Given the description of an element on the screen output the (x, y) to click on. 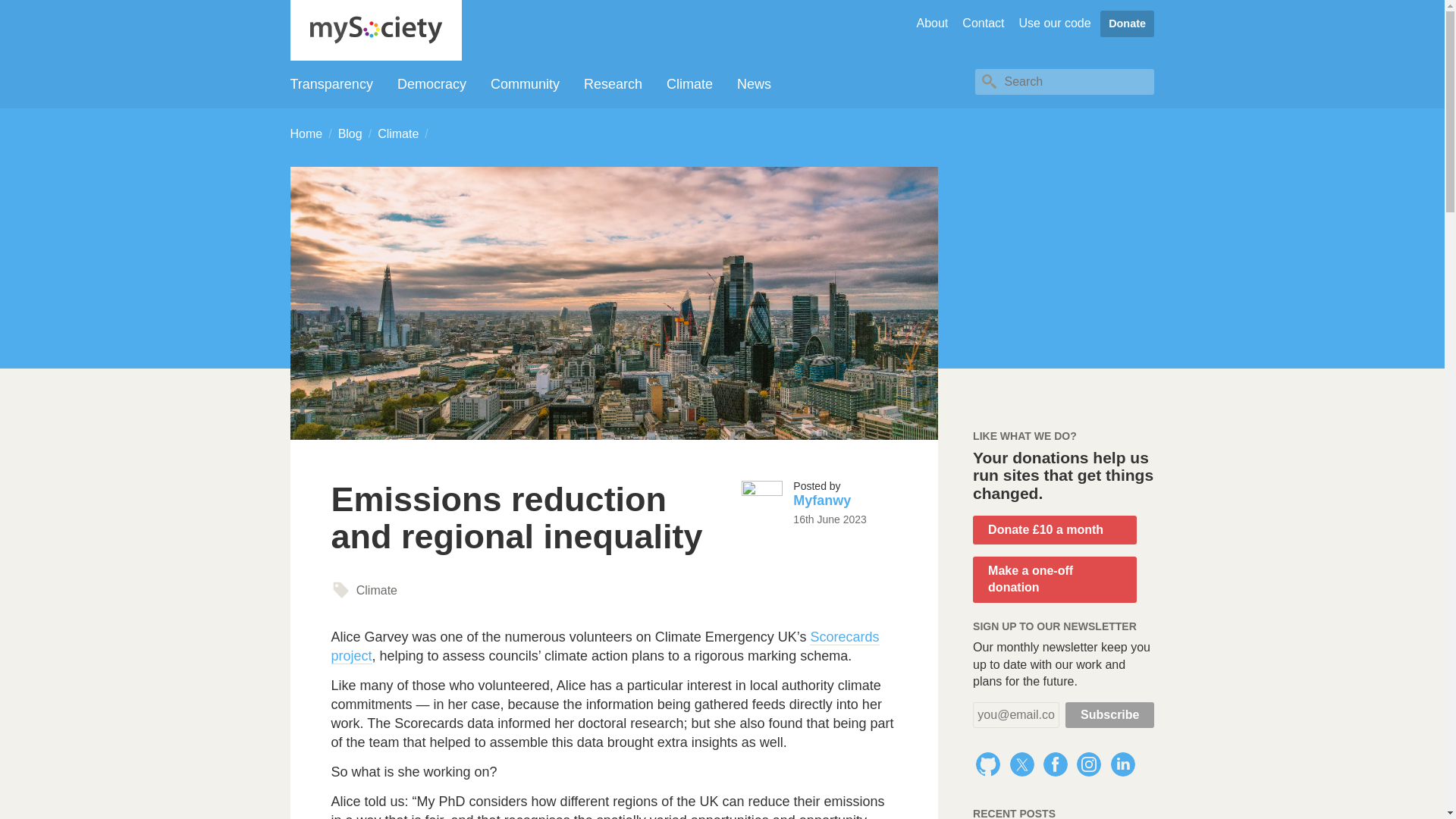
Donate (1127, 23)
Github (987, 764)
Research (612, 84)
Search (989, 81)
Climate (689, 84)
Scorecards project (604, 646)
Subscribe (1109, 714)
Make a one-off donation (1053, 579)
Posts by Myfanwy (821, 500)
mySociety (375, 30)
Facebook (1055, 764)
Transparency (330, 84)
News (753, 84)
About (931, 23)
Myfanwy (821, 500)
